Given the description of an element on the screen output the (x, y) to click on. 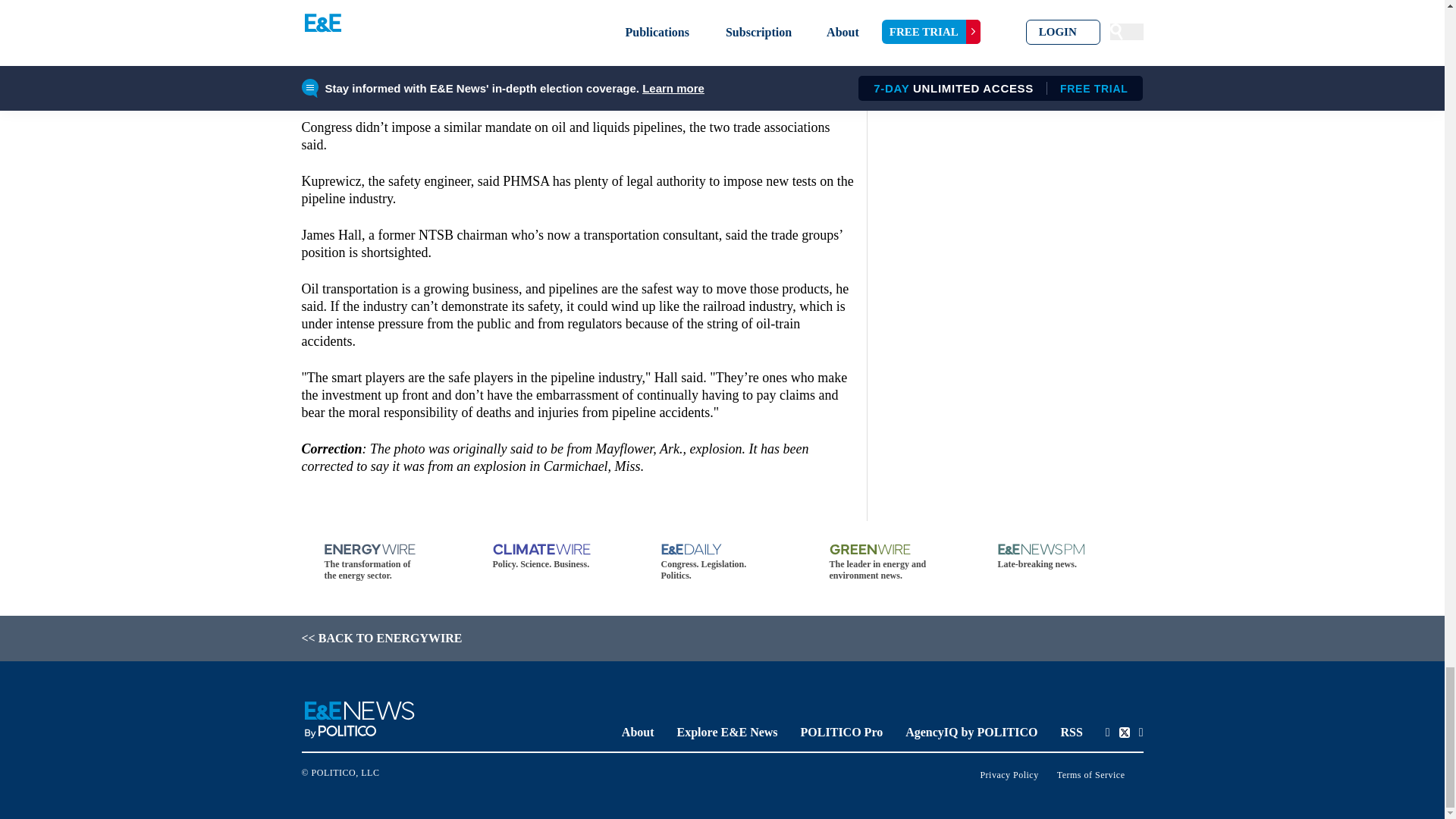
joint letter (402, 19)
Policy. Science. Business. (554, 556)
The transformation of the energy sector. (385, 562)
Late-breaking news. (1058, 556)
Congress. Legislation. Politics. (722, 562)
About (637, 731)
The leader in energy and environment news. (890, 562)
